Given the description of an element on the screen output the (x, y) to click on. 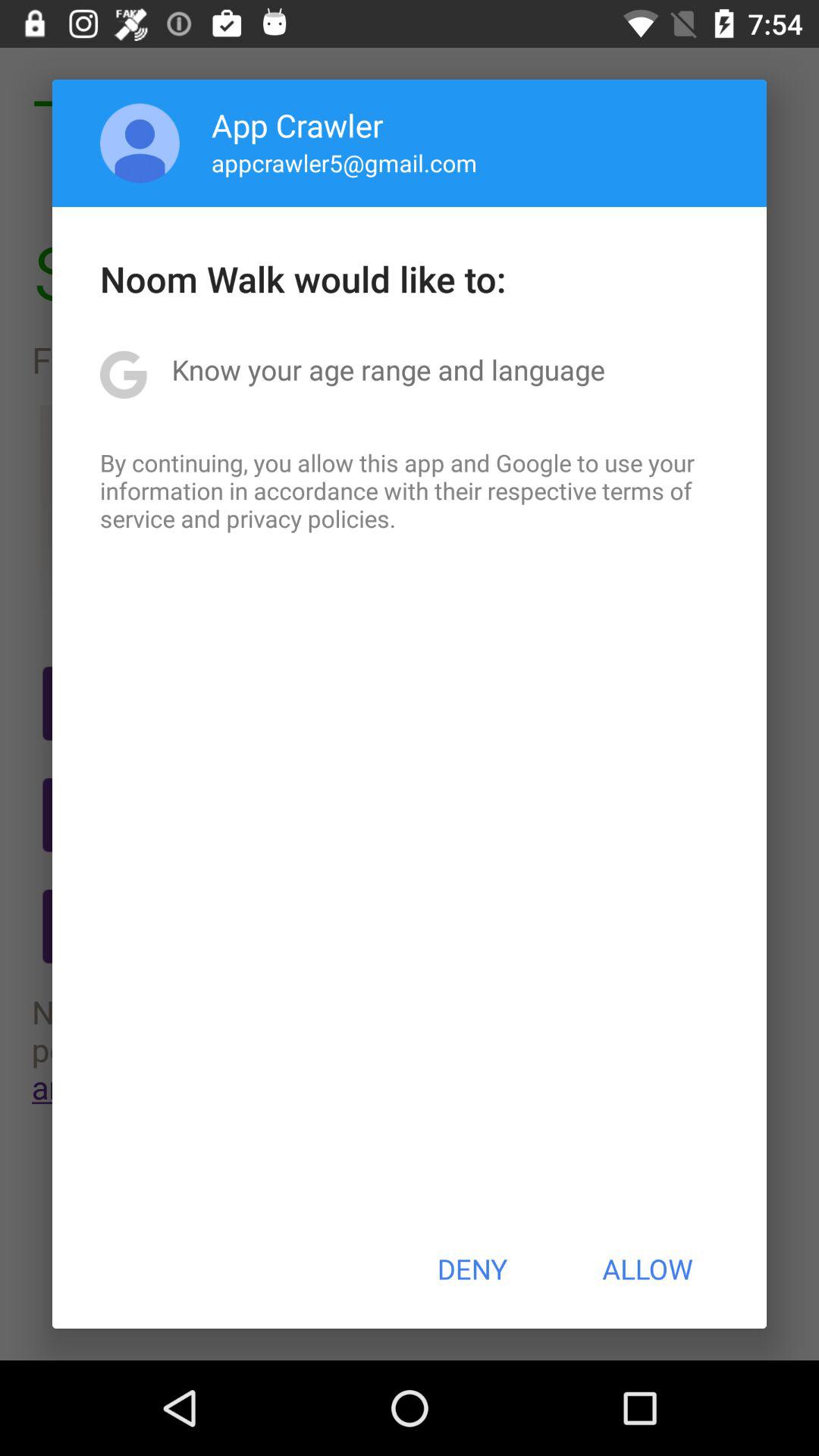
choose the item above the by continuing you item (388, 369)
